Given the description of an element on the screen output the (x, y) to click on. 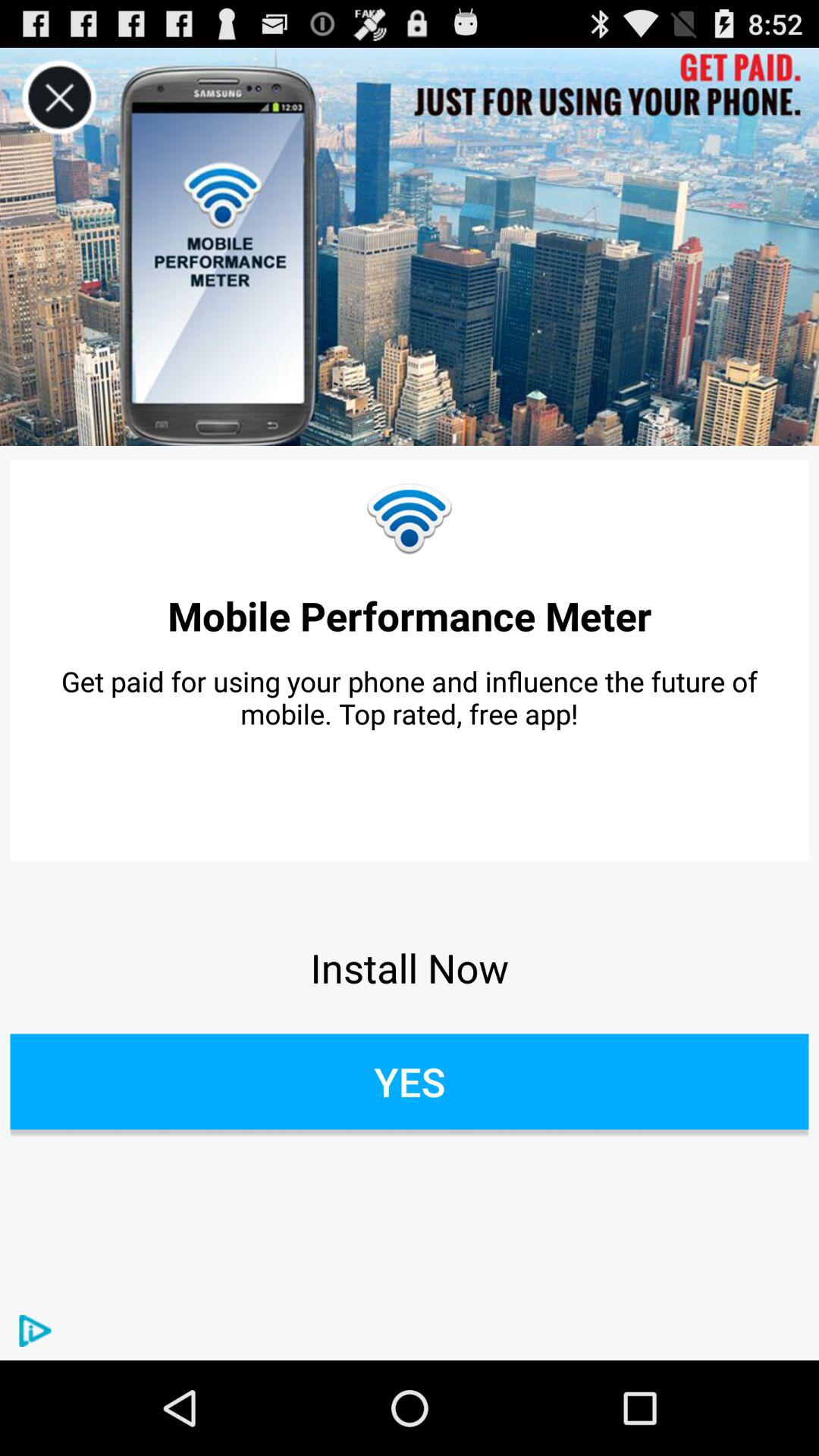
jump until the install now (409, 967)
